Given the description of an element on the screen output the (x, y) to click on. 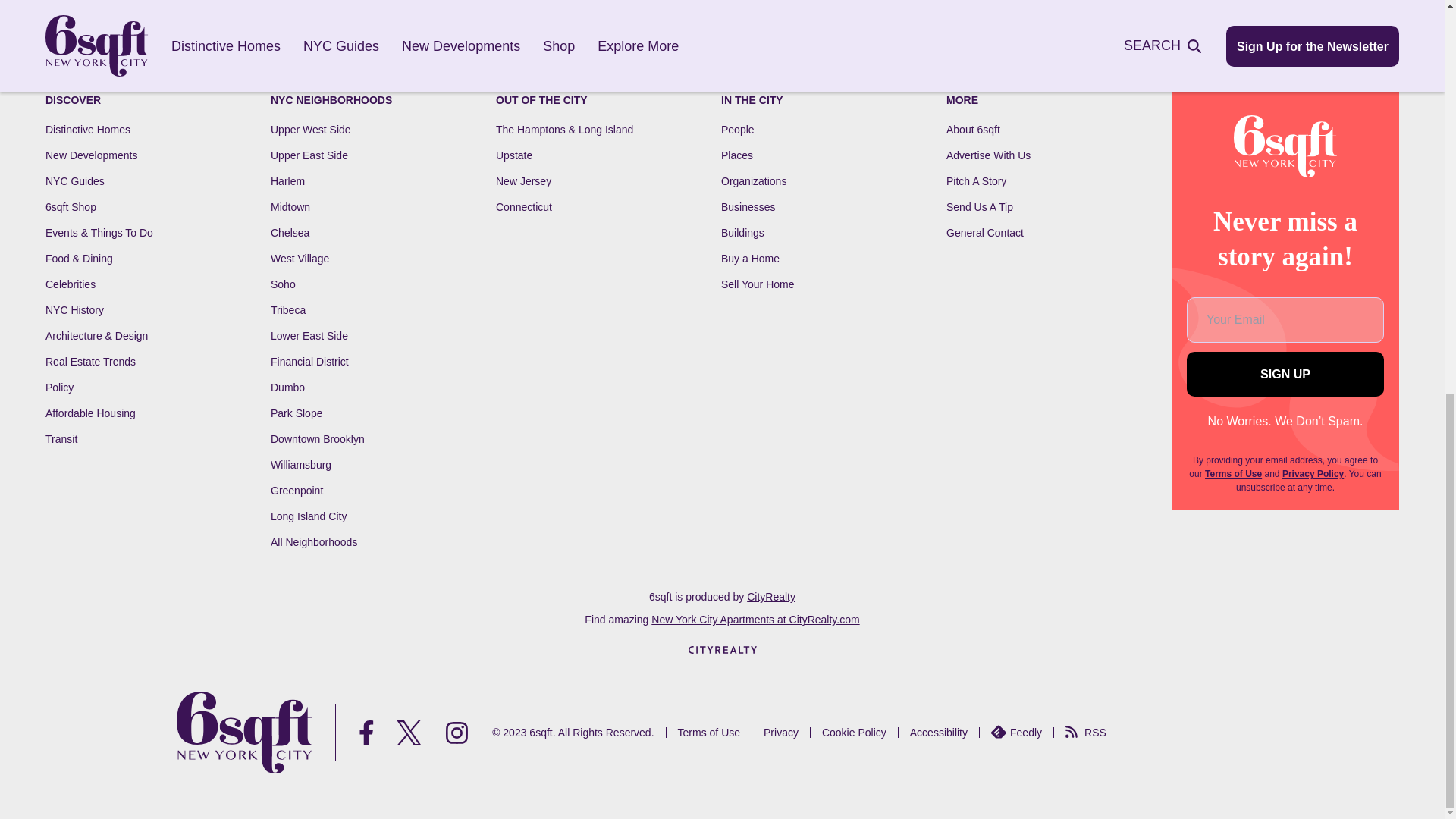
NYC Guides (74, 181)
Upper West Side (310, 129)
6sqft Shop (70, 206)
Real Estate Trends (90, 361)
Upper East Side (308, 155)
Policy (59, 387)
Affordable Housing (90, 413)
NYC History (74, 309)
SIGN UP (1285, 374)
Distinctive Homes (88, 129)
Transit (61, 439)
New Developments (90, 155)
Celebrities (70, 284)
